Given the description of an element on the screen output the (x, y) to click on. 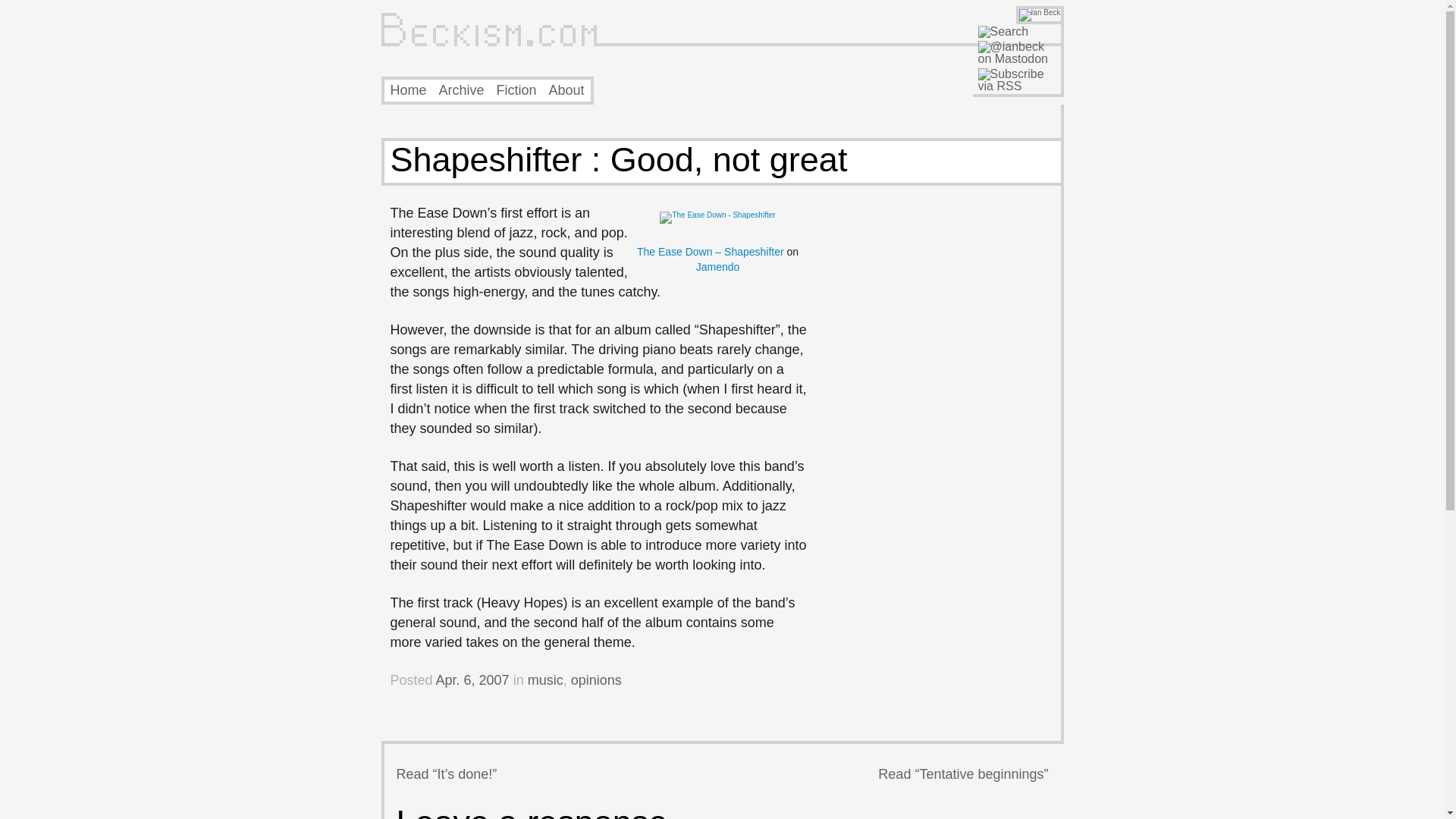
Subscribe (1017, 80)
Fiction (516, 89)
music (545, 679)
The Ease Down - Shapeshifter (717, 214)
opinions (595, 679)
Home (408, 89)
Jamendo (717, 266)
Archive (461, 89)
Apr. 6, 2007 (472, 679)
Permalink (472, 679)
Search Beckism.com (1003, 31)
About (566, 89)
